Given the description of an element on the screen output the (x, y) to click on. 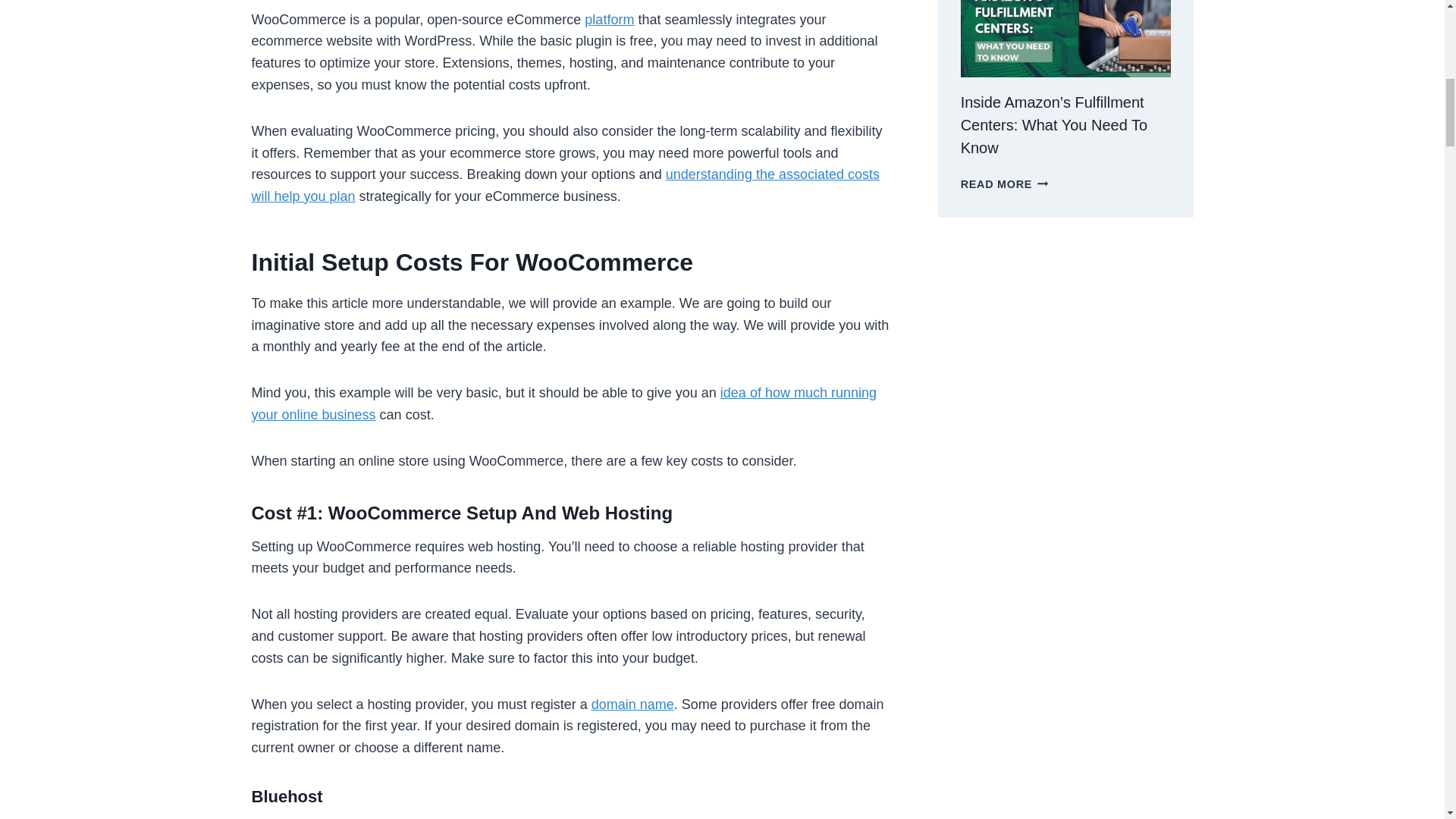
understanding the associated costs will help you plan (565, 185)
domain name (632, 703)
platform (609, 19)
idea of how much running your online business (563, 403)
